Given the description of an element on the screen output the (x, y) to click on. 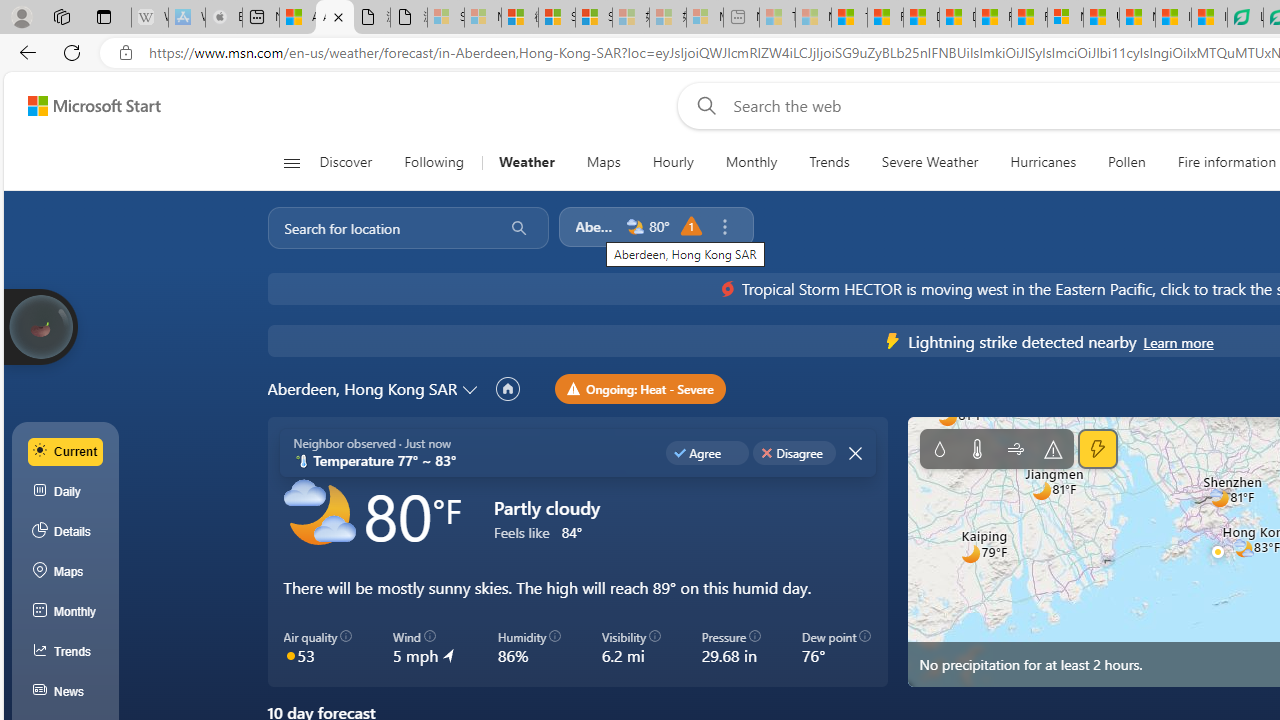
Hurricanes (1042, 162)
Wind (1015, 449)
Pollen (1126, 162)
Temperature (976, 449)
